Given the description of an element on the screen output the (x, y) to click on. 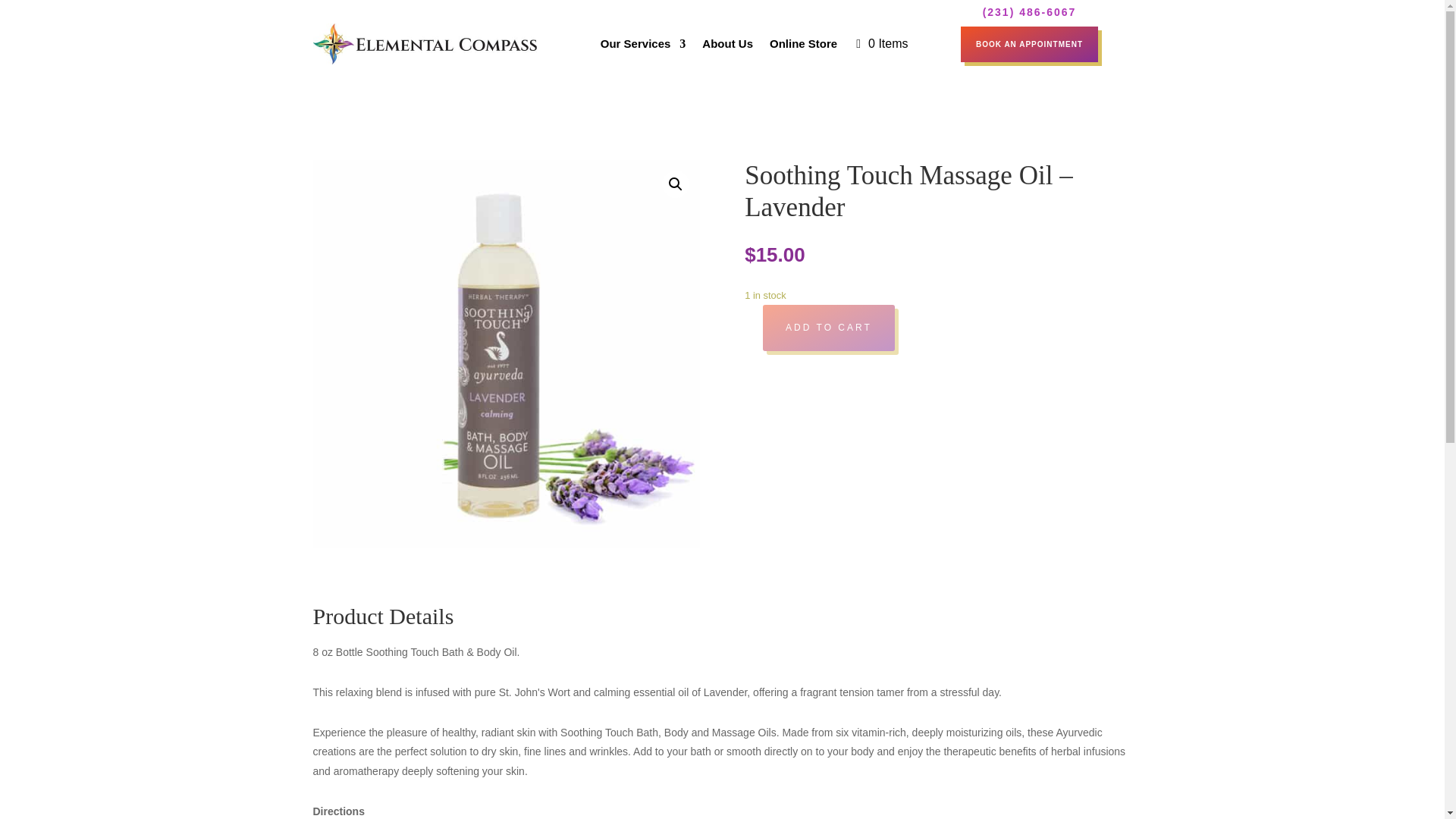
Online Store (803, 43)
0 Items (881, 43)
Our Services (642, 43)
BOOK AN APPOINTMENT (1028, 43)
